Given the description of an element on the screen output the (x, y) to click on. 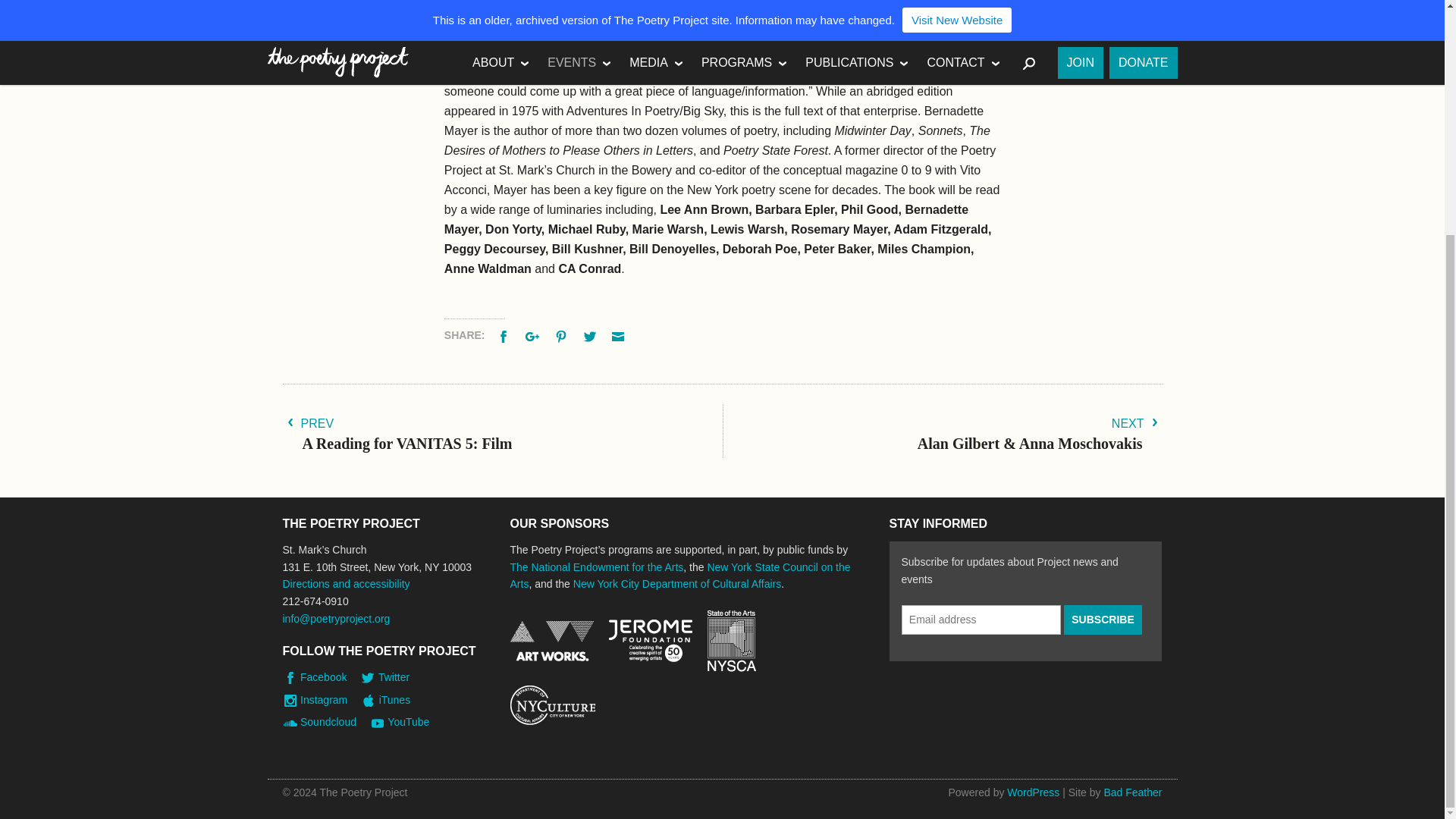
Facebook (504, 335)
Pinterest (562, 335)
Email (619, 335)
Tweet (590, 335)
Facebook (504, 335)
Subscribe (1102, 619)
